Given the description of an element on the screen output the (x, y) to click on. 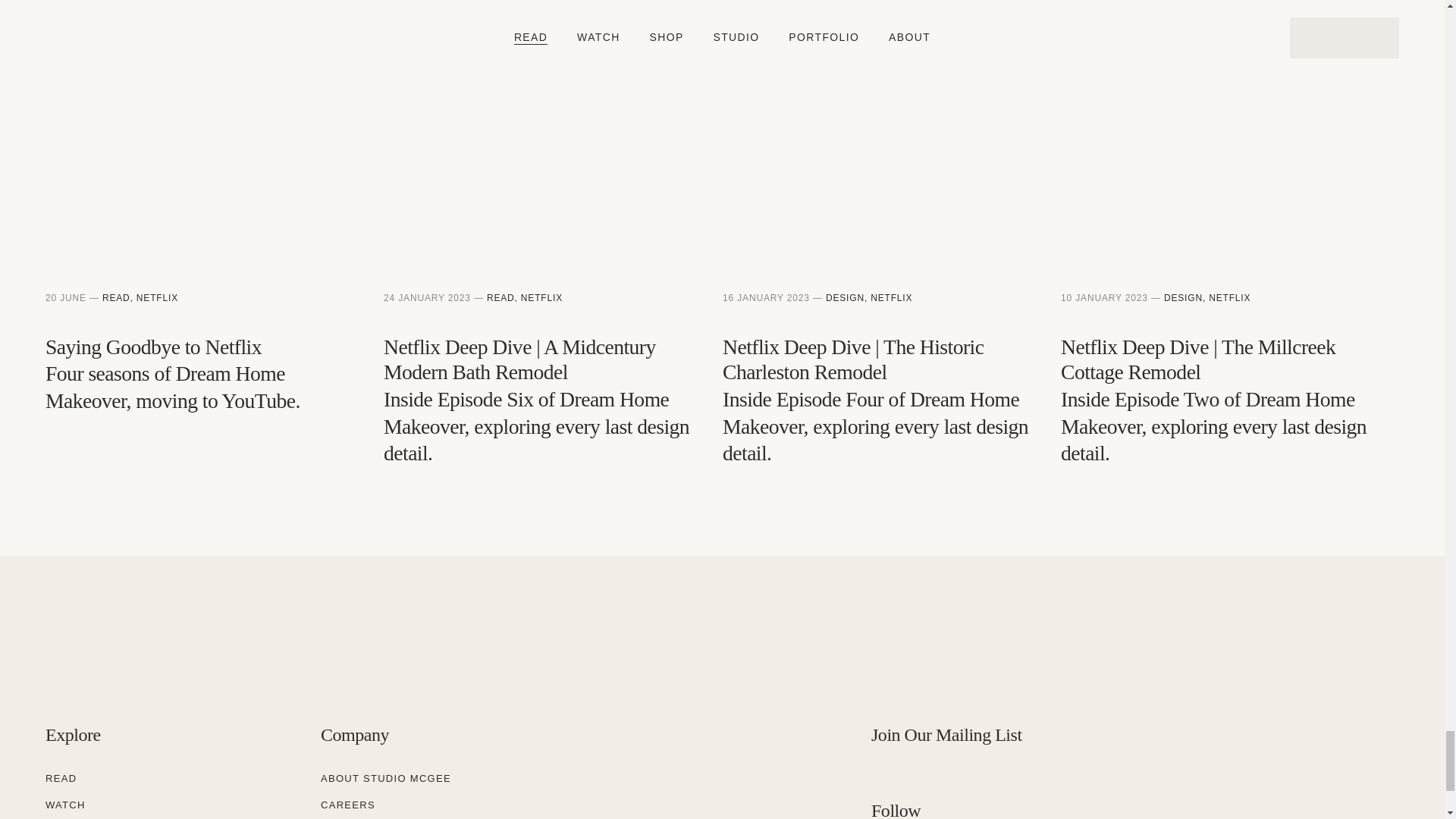
Studio McGee homepage (166, 654)
